Given the description of an element on the screen output the (x, y) to click on. 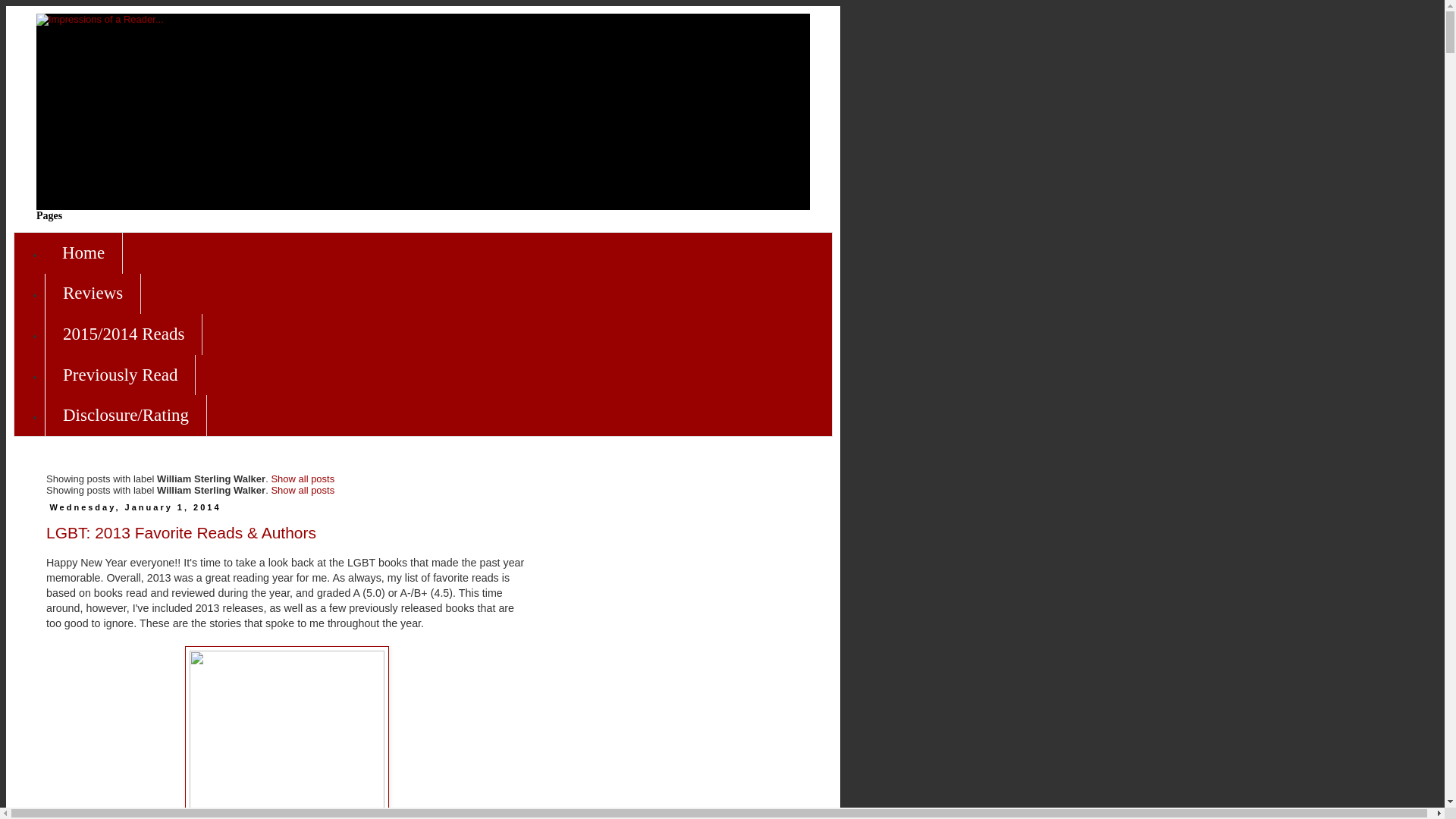
Show all posts (302, 478)
Reviews (93, 293)
Show all posts (302, 490)
Home (83, 252)
Previously Read (120, 374)
